Given the description of an element on the screen output the (x, y) to click on. 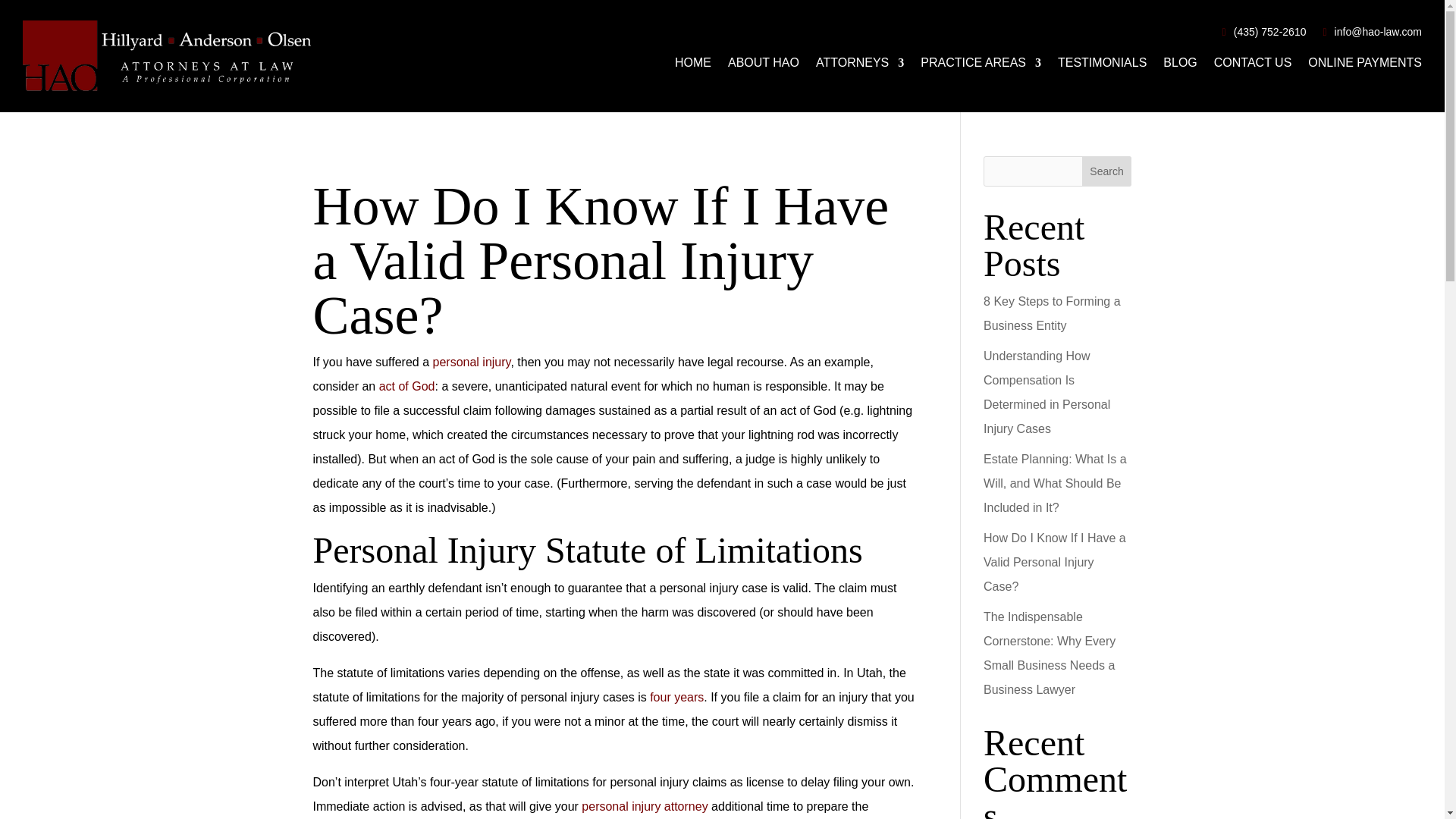
CONTACT US (1253, 65)
PRACTICE AREAS (980, 65)
ONLINE PAYMENTS (1364, 65)
ATTORNEYS (859, 65)
ABOUT HAO (763, 65)
HOME (693, 65)
BLOG (1179, 65)
TESTIMONIALS (1102, 65)
logo-horizontal-white2 (168, 55)
